Given the description of an element on the screen output the (x, y) to click on. 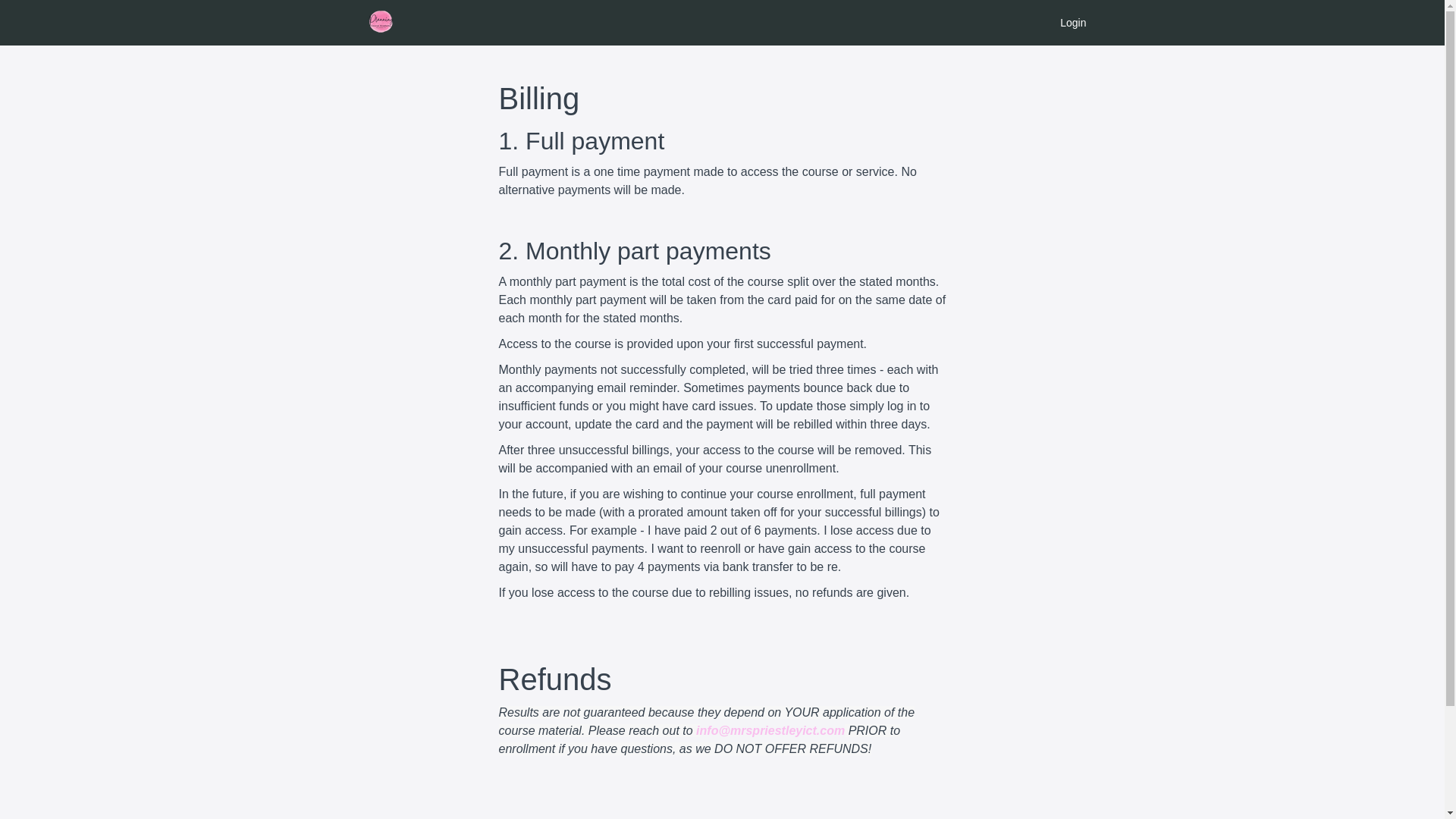
Login (1072, 22)
